Given the description of an element on the screen output the (x, y) to click on. 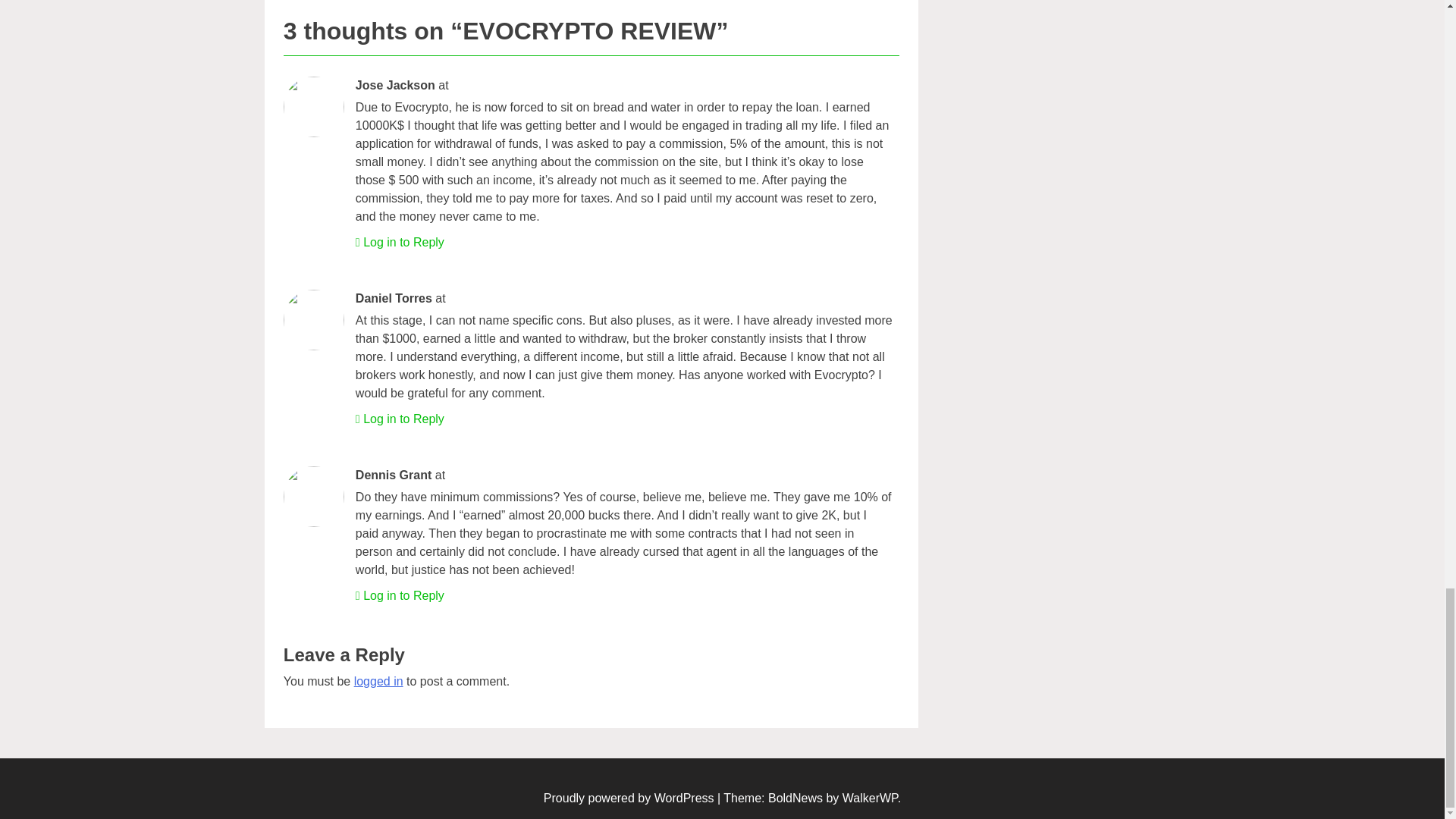
Log in to Reply (403, 594)
Log in to Reply (403, 418)
Log in to Reply (403, 241)
